Given the description of an element on the screen output the (x, y) to click on. 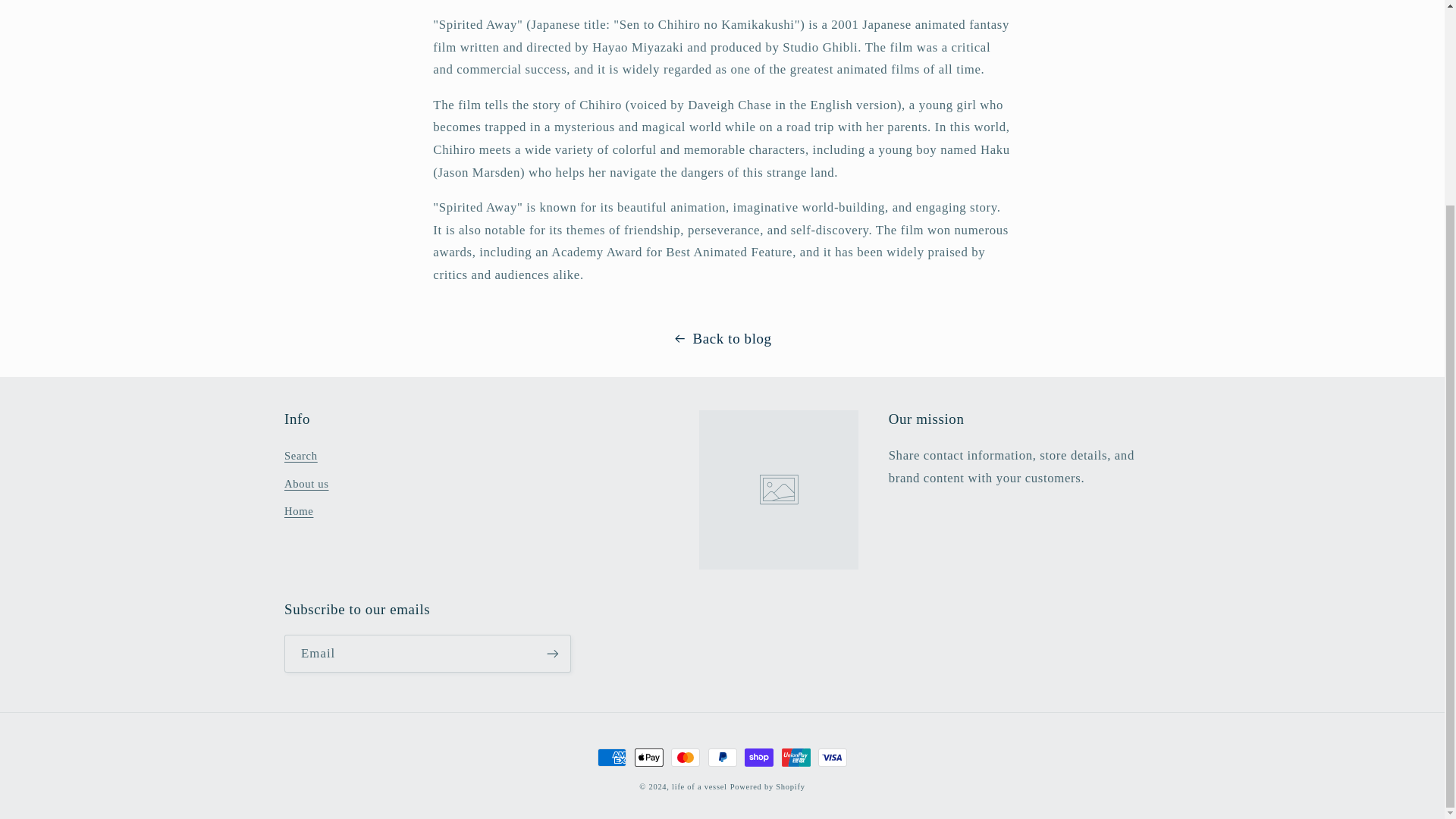
Powered by Shopify (767, 786)
Home (298, 511)
Search (300, 458)
life of a vessel (698, 786)
About us (306, 483)
